Given the description of an element on the screen output the (x, y) to click on. 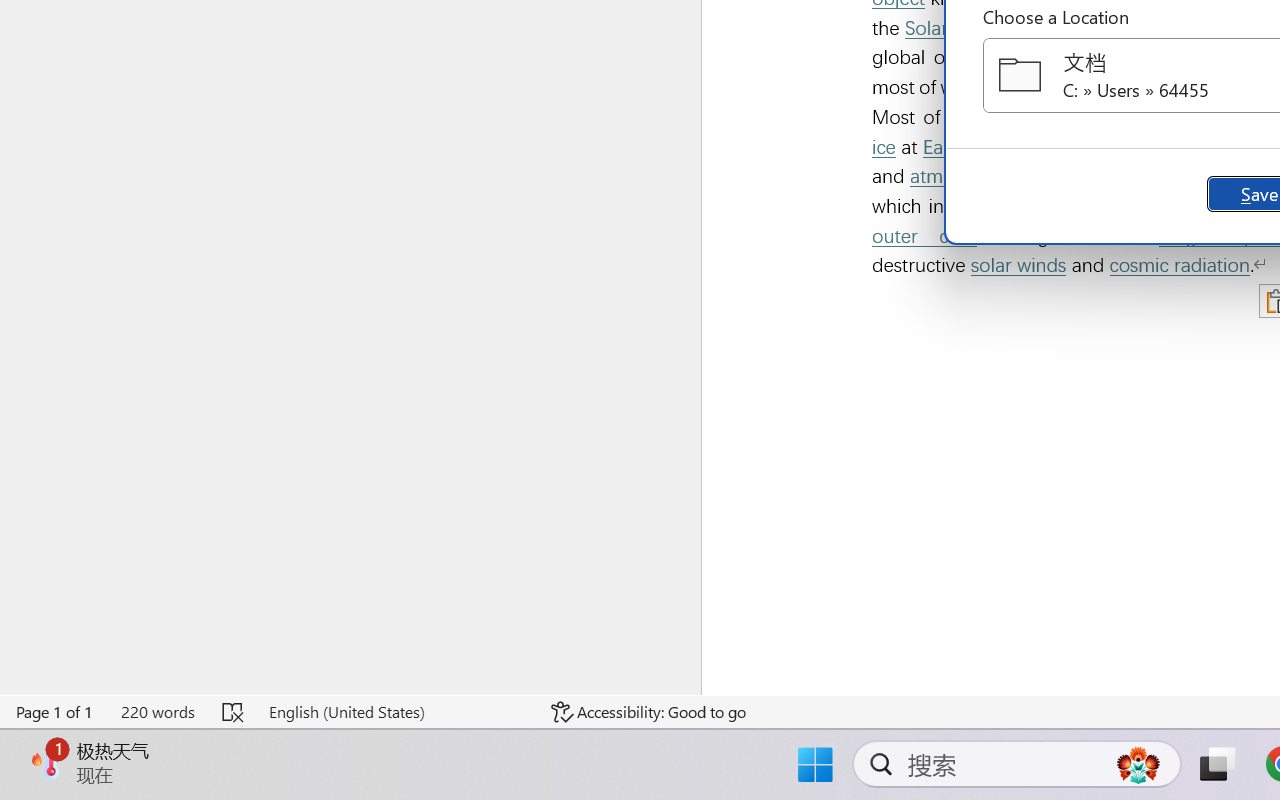
Spelling and Grammar Check Errors (234, 712)
